Given the description of an element on the screen output the (x, y) to click on. 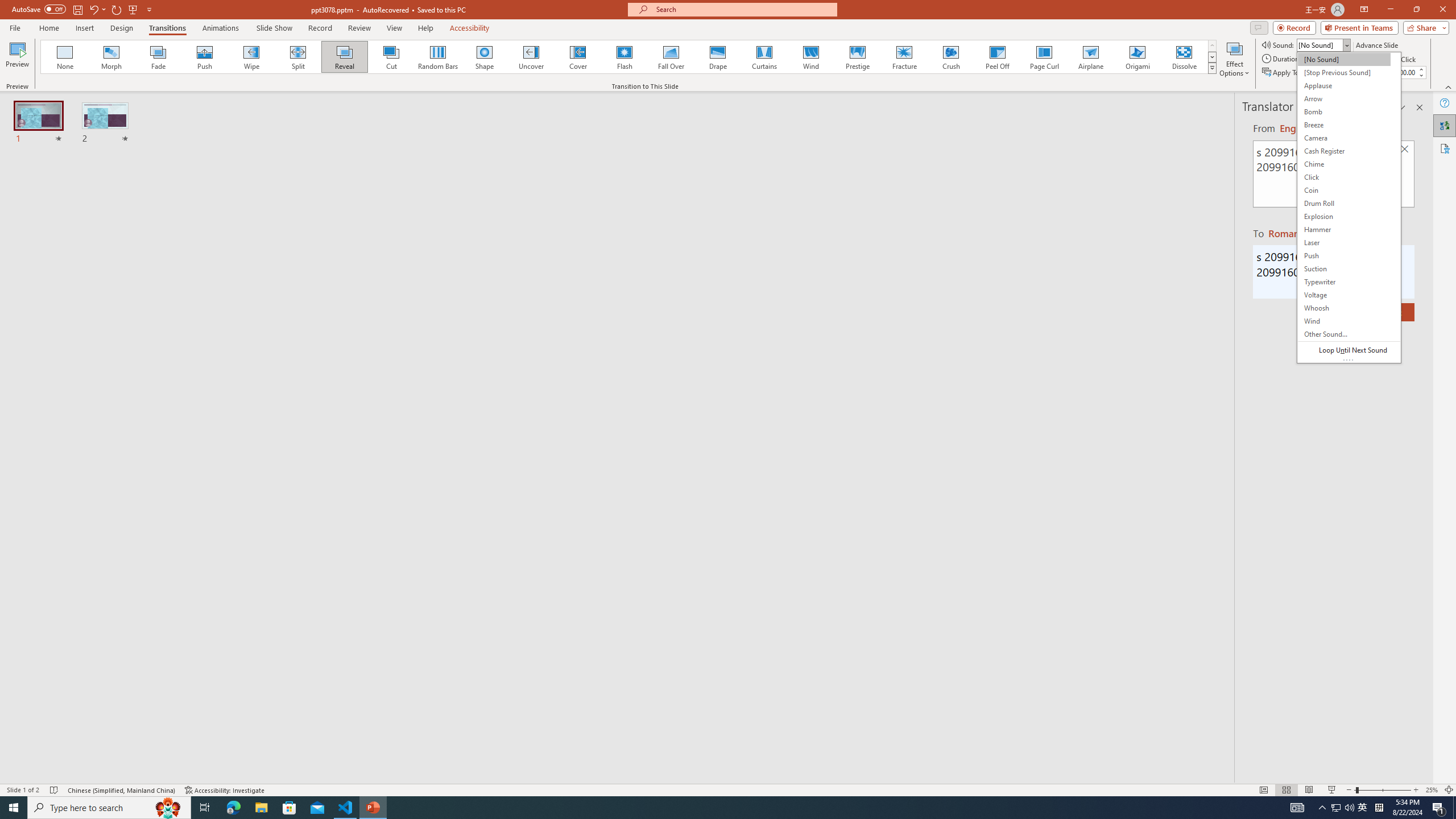
Morph (111, 56)
Reveal (344, 56)
Wipe (251, 56)
Fracture (903, 56)
